Given the description of an element on the screen output the (x, y) to click on. 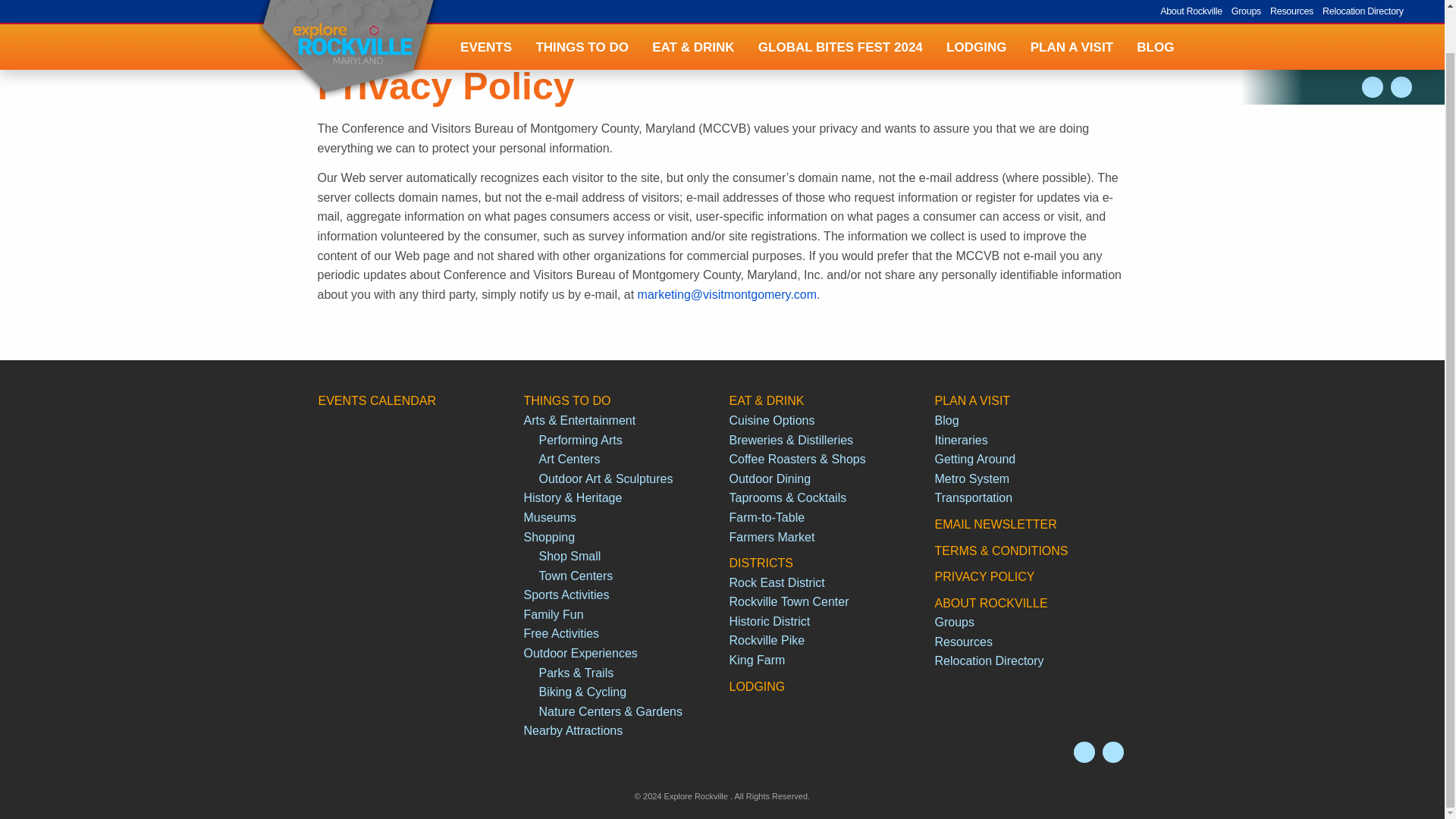
Instagram (1372, 41)
EVENTS (485, 12)
BLOG (1155, 12)
Facebook (1401, 41)
GLOBAL BITES FEST 2024 (839, 12)
Facebook (1113, 752)
THINGS TO DO (582, 12)
Instagram (1084, 752)
LODGING (975, 12)
PLAN A VISIT (1071, 12)
